Given the description of an element on the screen output the (x, y) to click on. 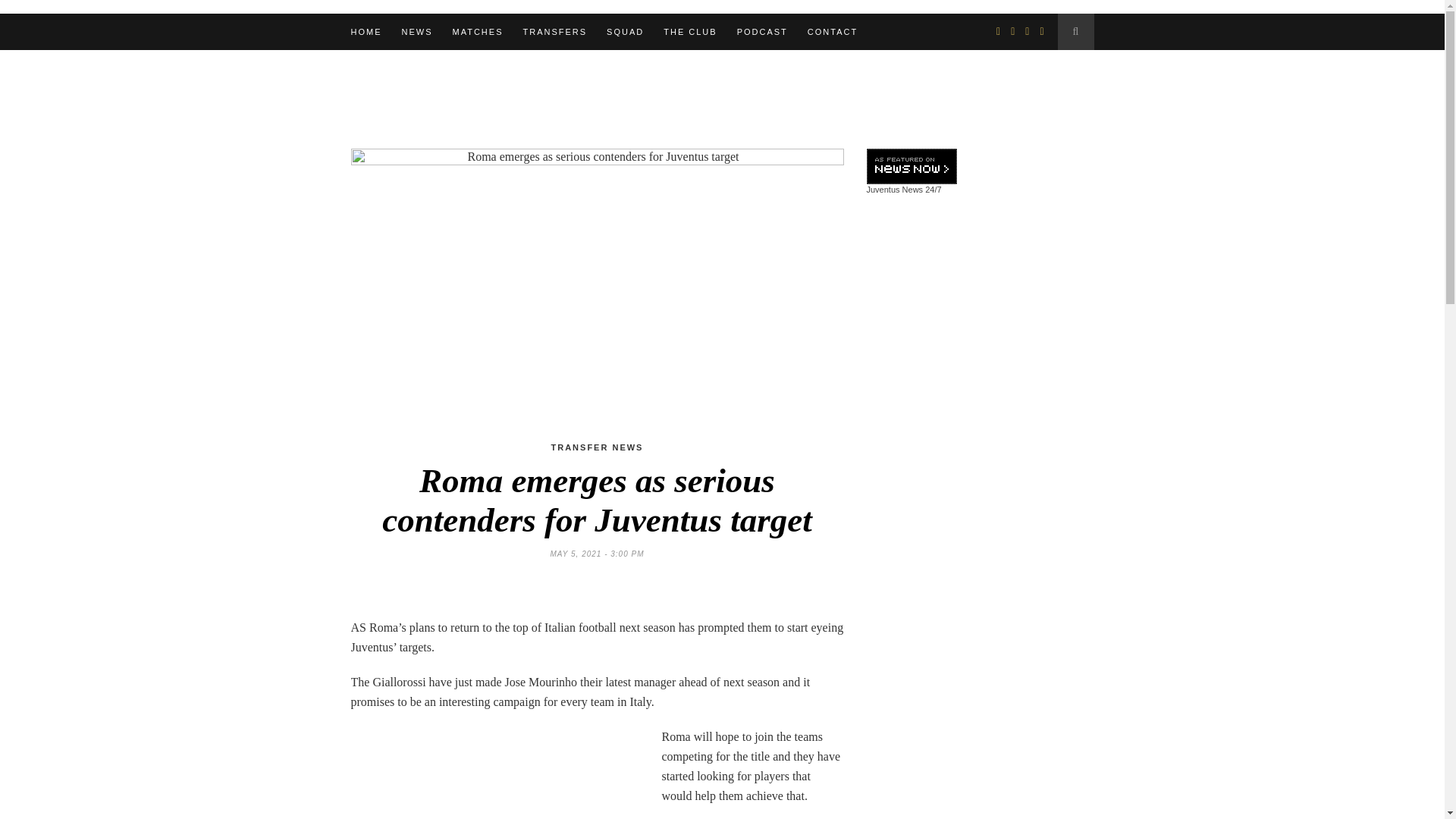
PODCAST (761, 31)
TRANSFERS (554, 31)
THE CLUB (689, 31)
The Club (689, 31)
Matches (476, 31)
CONTACT (832, 31)
Contact (832, 31)
MATCHES (476, 31)
SQUAD (625, 31)
Squad (625, 31)
